Given the description of an element on the screen output the (x, y) to click on. 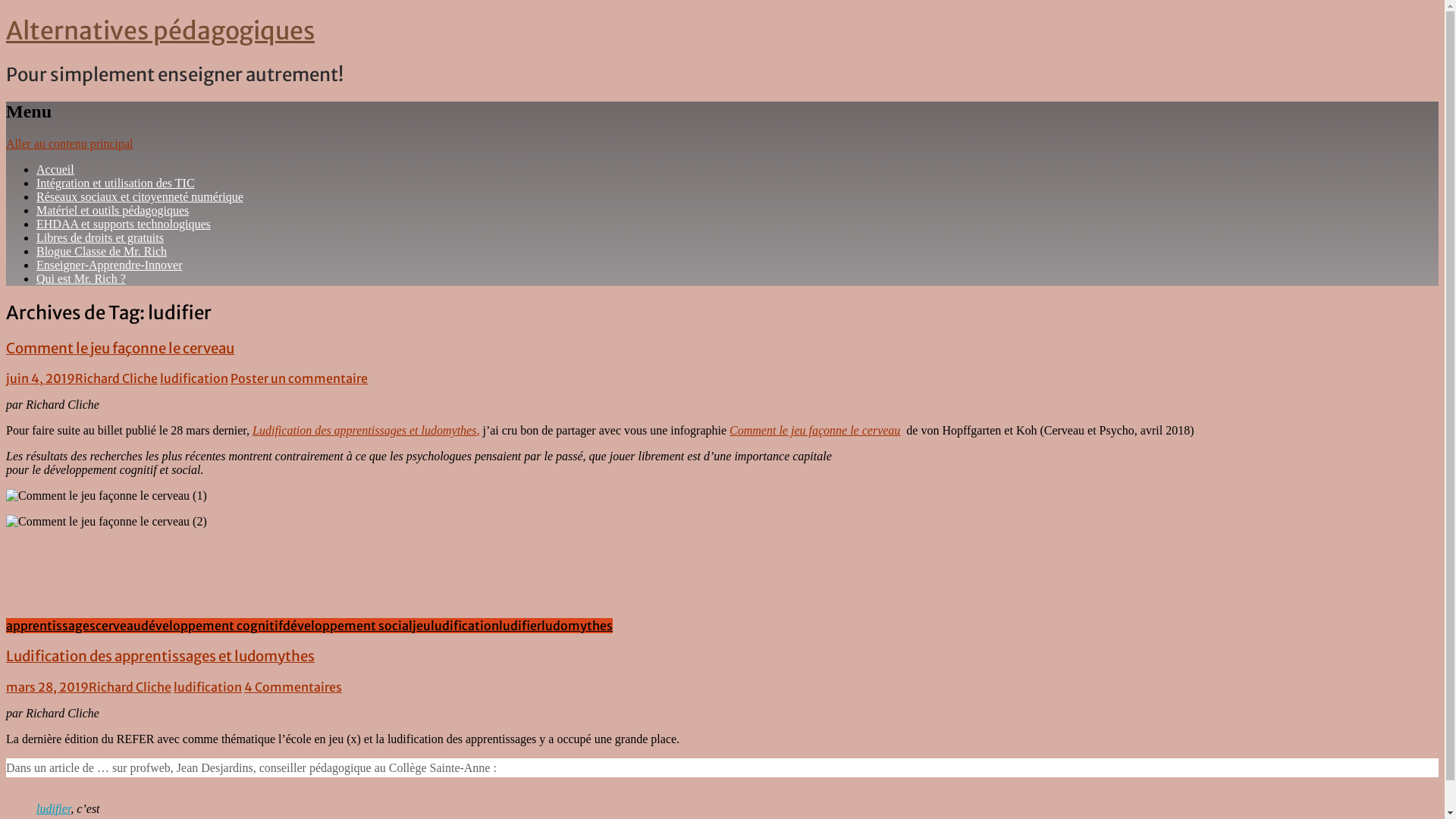
ludification Element type: text (207, 686)
Enseigner-Apprendre-Innover Element type: text (109, 264)
Richard Cliche Element type: text (116, 377)
ludifier Element type: text (53, 808)
ludifier Element type: text (519, 625)
4 Commentaires Element type: text (293, 686)
Qui est Mr. Rich ? Element type: text (80, 278)
Poster un commentaire Element type: text (298, 377)
Blogue Classe de Mr. Rich Element type: text (101, 250)
mars 28, 2019 Element type: text (47, 686)
Libres de droits et gratuits Element type: text (99, 237)
Ludification des apprentissages et ludomythes Element type: text (160, 656)
ludomythes Element type: text (576, 625)
juin 4, 2019 Element type: text (40, 377)
ludification Element type: text (464, 625)
ludification Element type: text (194, 377)
Richard Cliche Element type: text (129, 686)
EHDAA et supports technologiques Element type: text (123, 223)
Accueil Element type: text (55, 169)
apprentissages Element type: text (50, 625)
cerveau Element type: text (118, 625)
Aller au contenu principal Element type: text (69, 143)
Ludification des apprentissages et ludomythes, Element type: text (365, 429)
jeu Element type: text (421, 625)
